Given the description of an element on the screen output the (x, y) to click on. 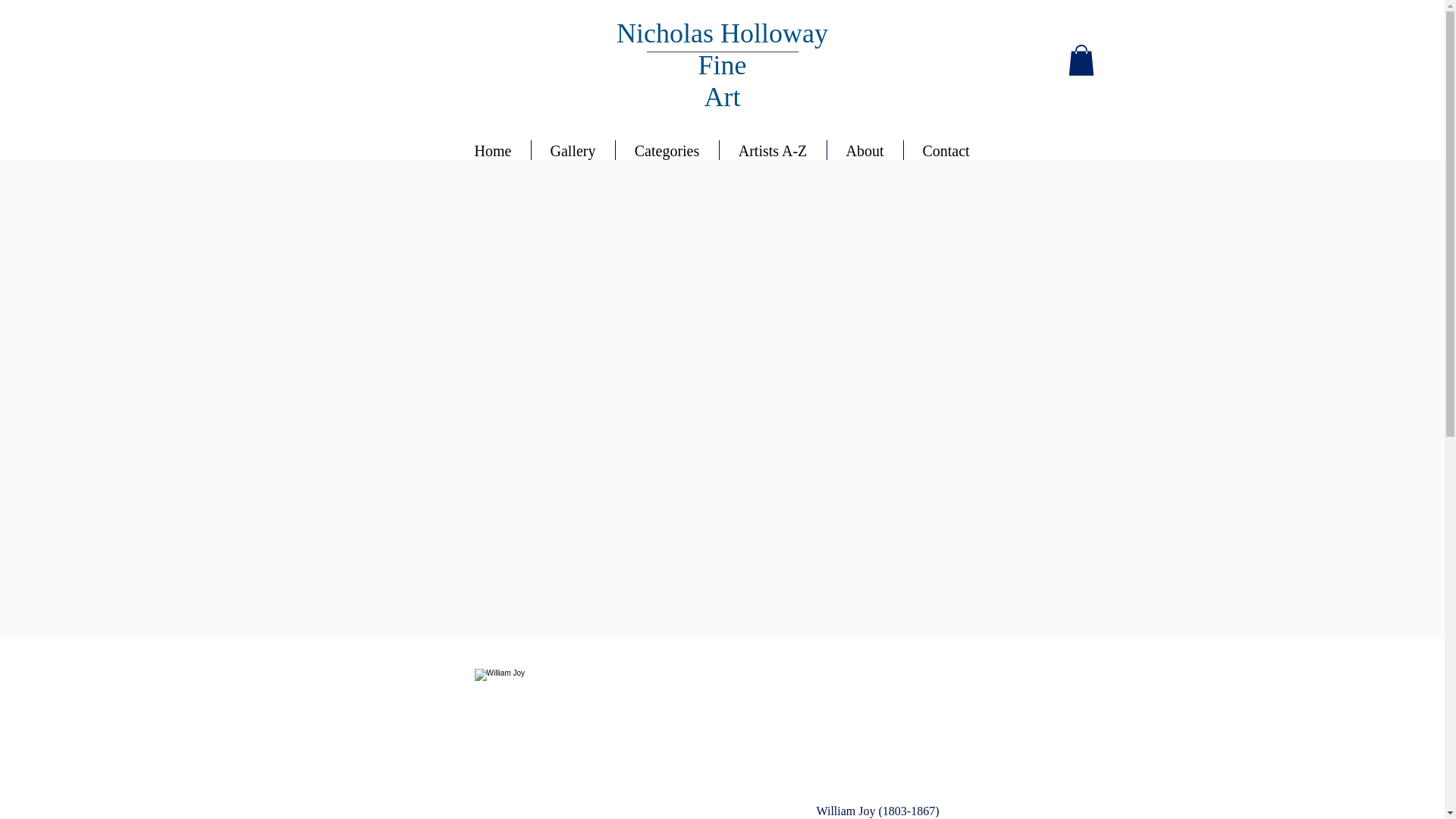
Artists A-Z (772, 149)
Contact (946, 149)
lloway (791, 33)
Gallery (572, 149)
About (864, 149)
Home (491, 149)
